Given the description of an element on the screen output the (x, y) to click on. 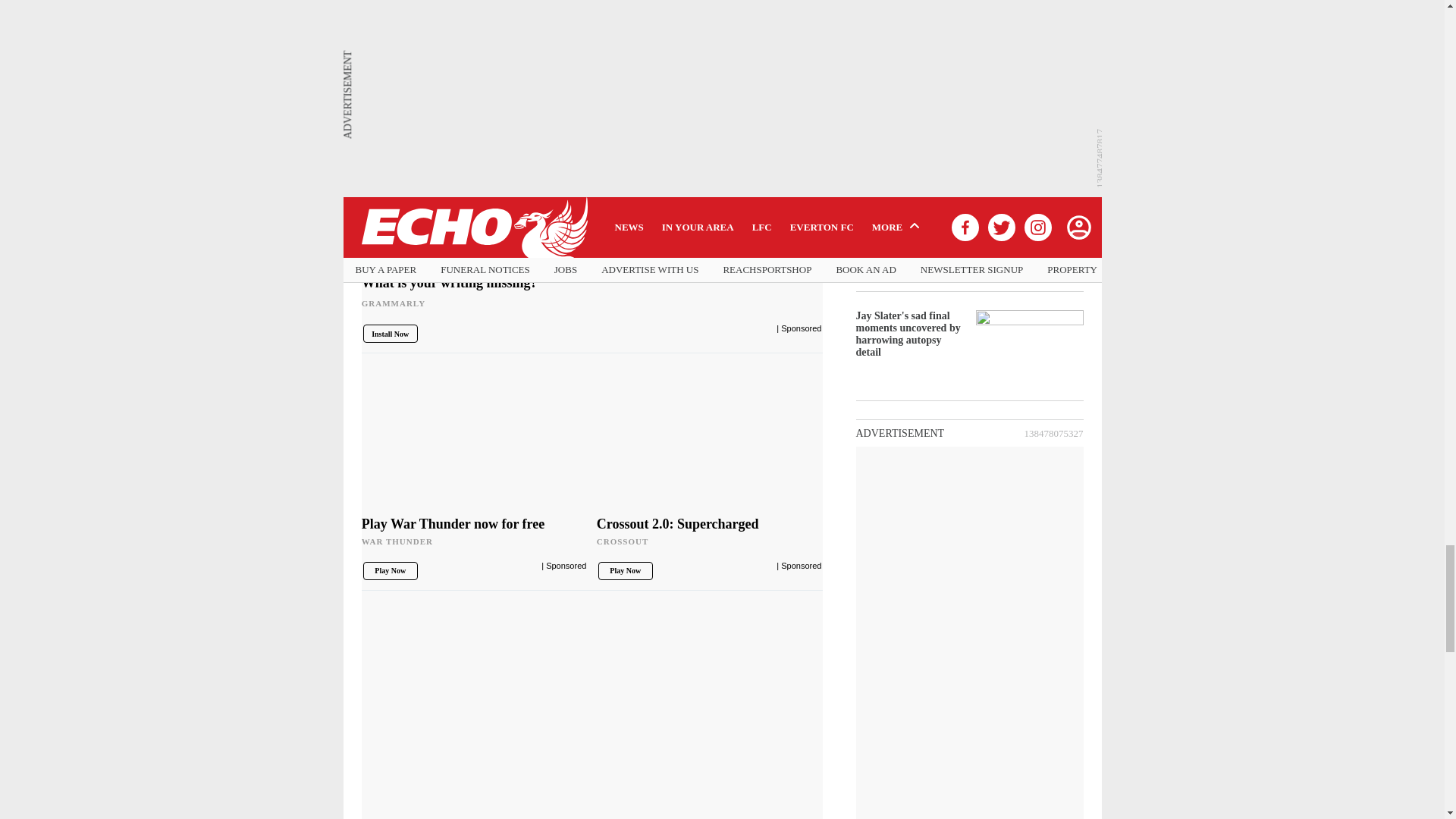
Crossout 2.0: Supercharged (709, 537)
Play War Thunder now for free (474, 439)
Play War Thunder now for free (474, 537)
What is your writing missing? (591, 146)
What is your writing missing? (591, 297)
Crossout 2.0: Supercharged (709, 439)
